Given the description of an element on the screen output the (x, y) to click on. 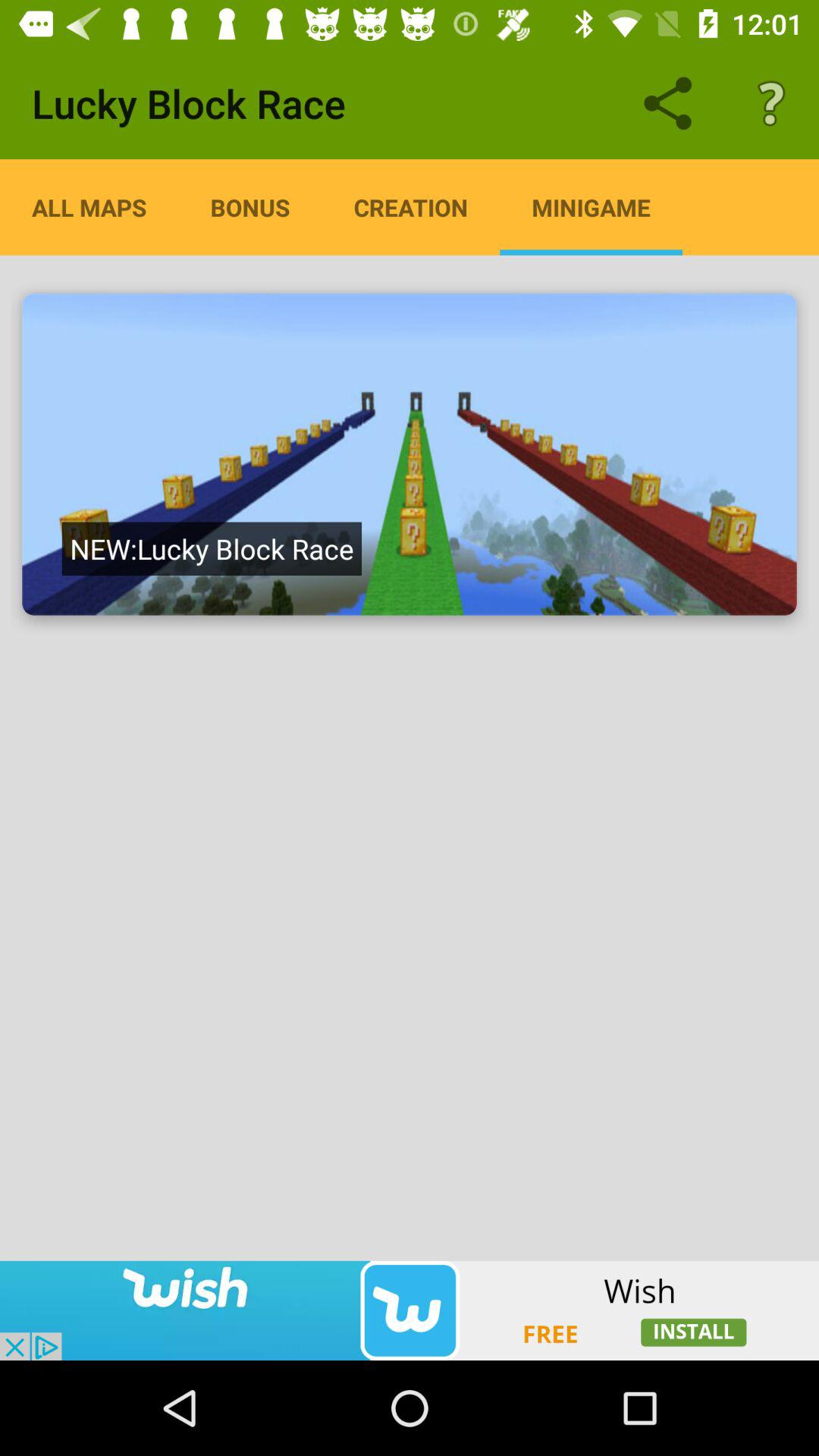
showing advertisements (409, 1310)
